Given the description of an element on the screen output the (x, y) to click on. 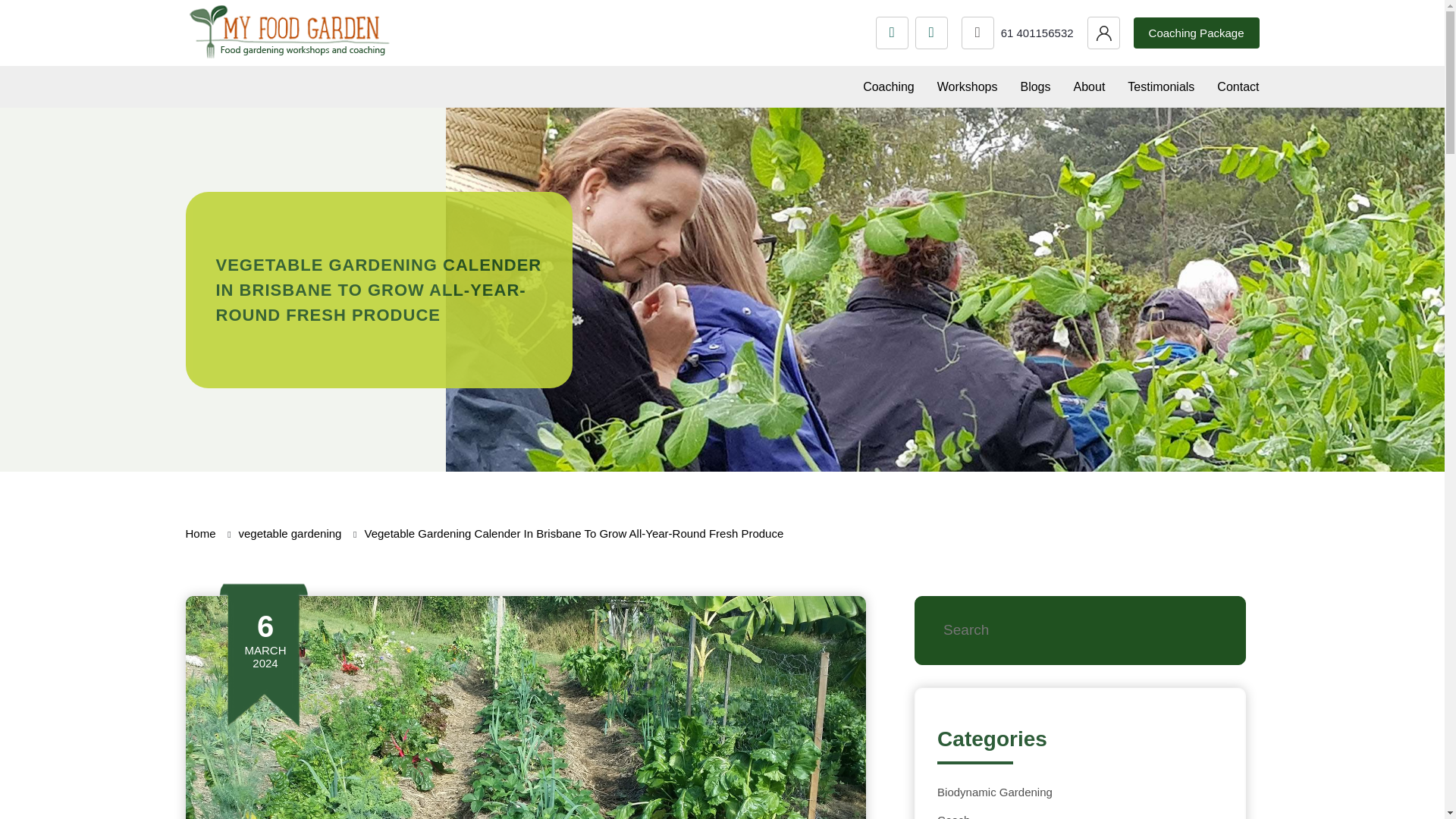
About (1089, 86)
Home (199, 533)
Home (199, 533)
Coaching (888, 86)
vegetable gardening (290, 533)
Coaching Package (1196, 31)
Workshops (967, 86)
Contact (1238, 86)
61 401156532 (1017, 32)
Testimonials (1159, 86)
Blogs (1034, 86)
